Given the description of an element on the screen output the (x, y) to click on. 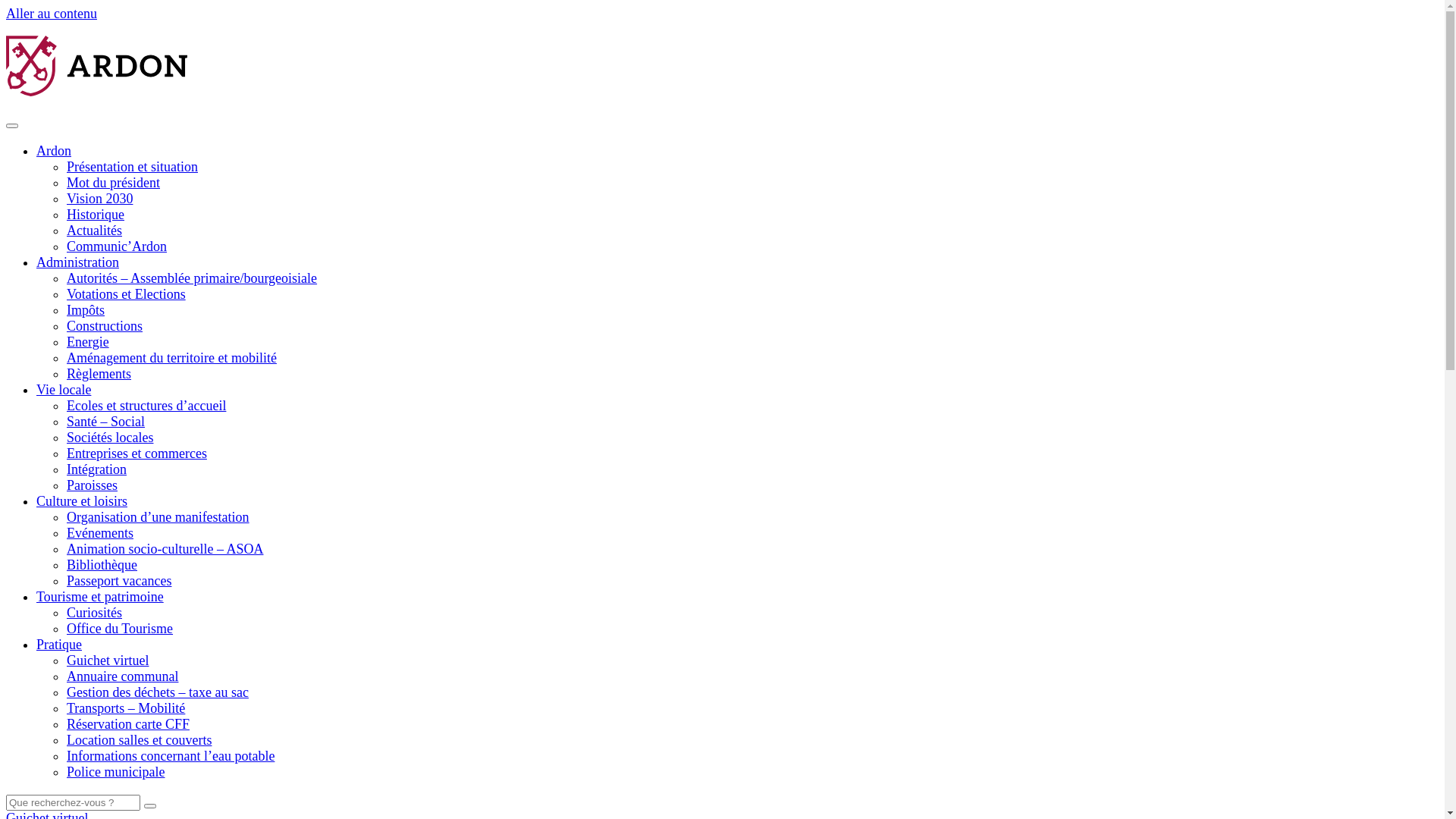
Historique Element type: text (95, 214)
Annuaire communal Element type: text (122, 676)
Energie Element type: text (87, 341)
Administration Element type: text (77, 261)
Aller au contenu Element type: text (51, 13)
Guichet virtuel Element type: text (107, 660)
Location salles et couverts Element type: text (138, 739)
Tourisme et patrimoine Element type: text (99, 596)
Vie locale Element type: text (63, 389)
Vision 2030 Element type: text (99, 198)
Constructions Element type: text (104, 325)
Culture et loisirs Element type: text (81, 500)
Paroisses Element type: text (91, 484)
Pratique Element type: text (58, 644)
Police municipale Element type: text (115, 771)
Passeport vacances Element type: text (118, 580)
Ardon Element type: text (53, 150)
Office du Tourisme Element type: text (119, 628)
Menu principal Element type: hover (12, 125)
Votations et Elections Element type: text (125, 293)
Entreprises et commerces Element type: text (136, 453)
